Given the description of an element on the screen output the (x, y) to click on. 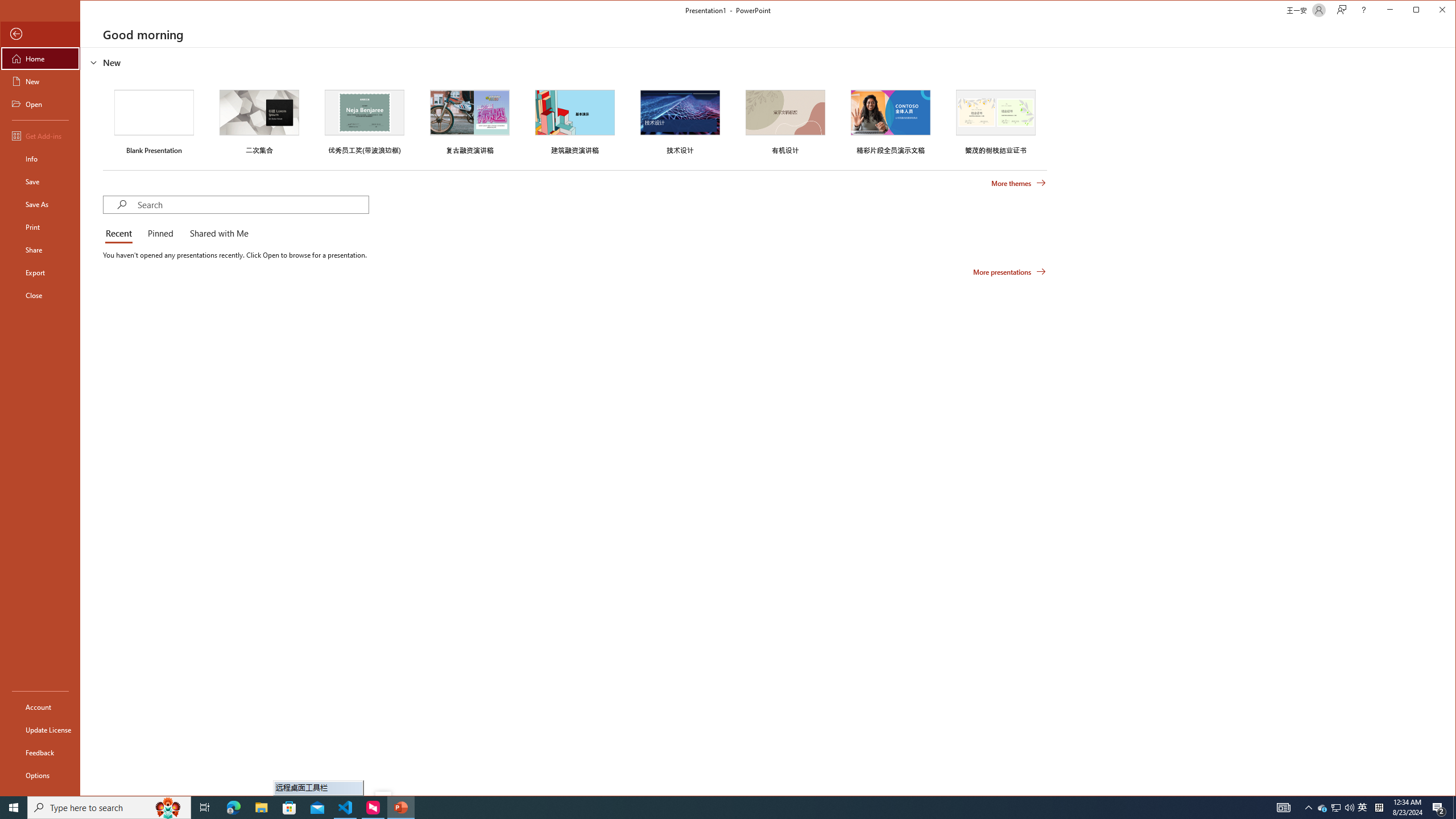
Hide or show region (93, 62)
Blank Presentation (154, 119)
